Given the description of an element on the screen output the (x, y) to click on. 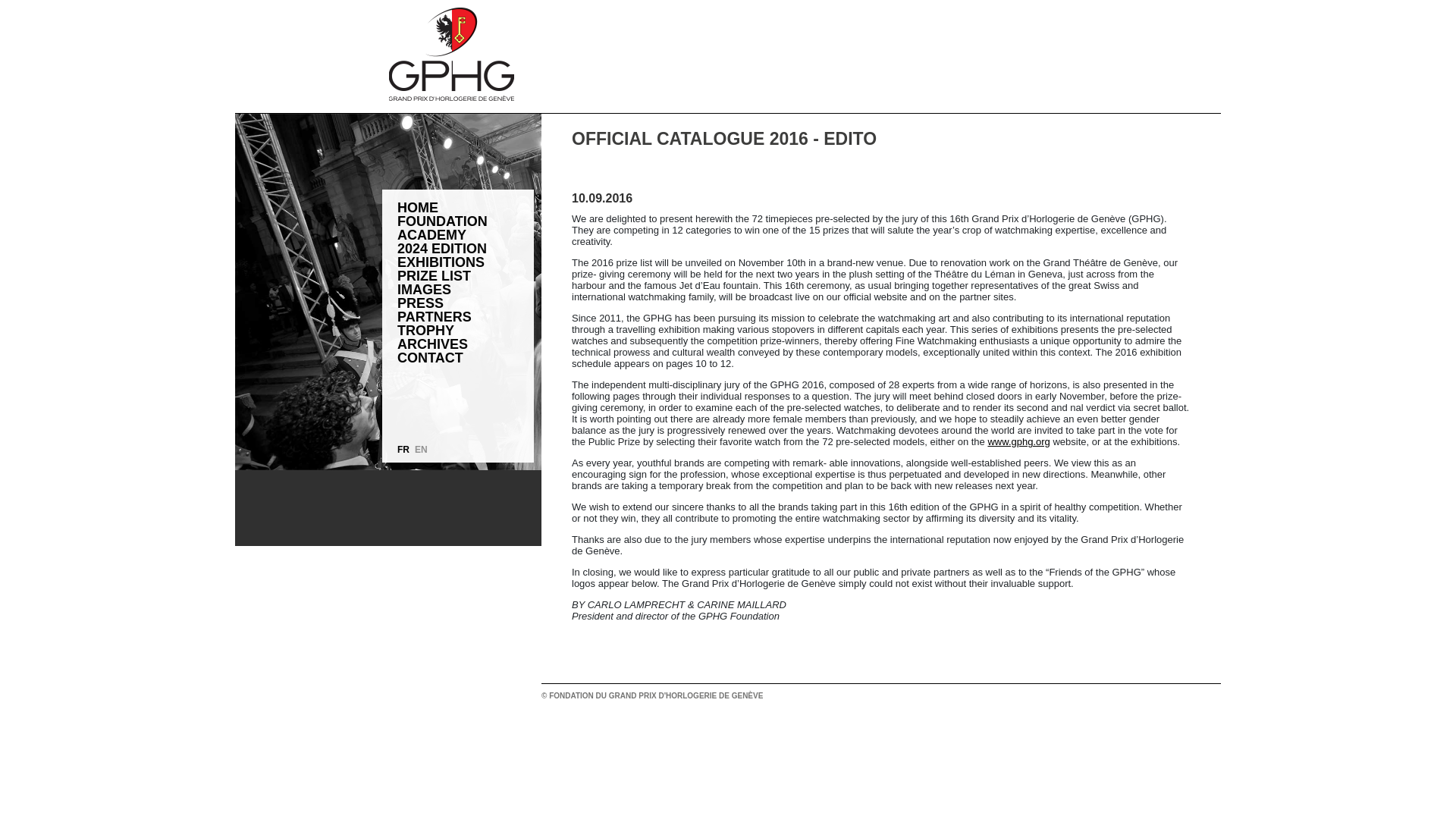
EXHIBITIONS (465, 262)
PRESS (465, 303)
www.gphg.org (1018, 441)
HOME (465, 207)
ARCHIVES (465, 344)
FOUNDATION (465, 221)
ACADEMY (465, 234)
EN (421, 449)
FR (403, 449)
IMAGES (465, 289)
